Given the description of an element on the screen output the (x, y) to click on. 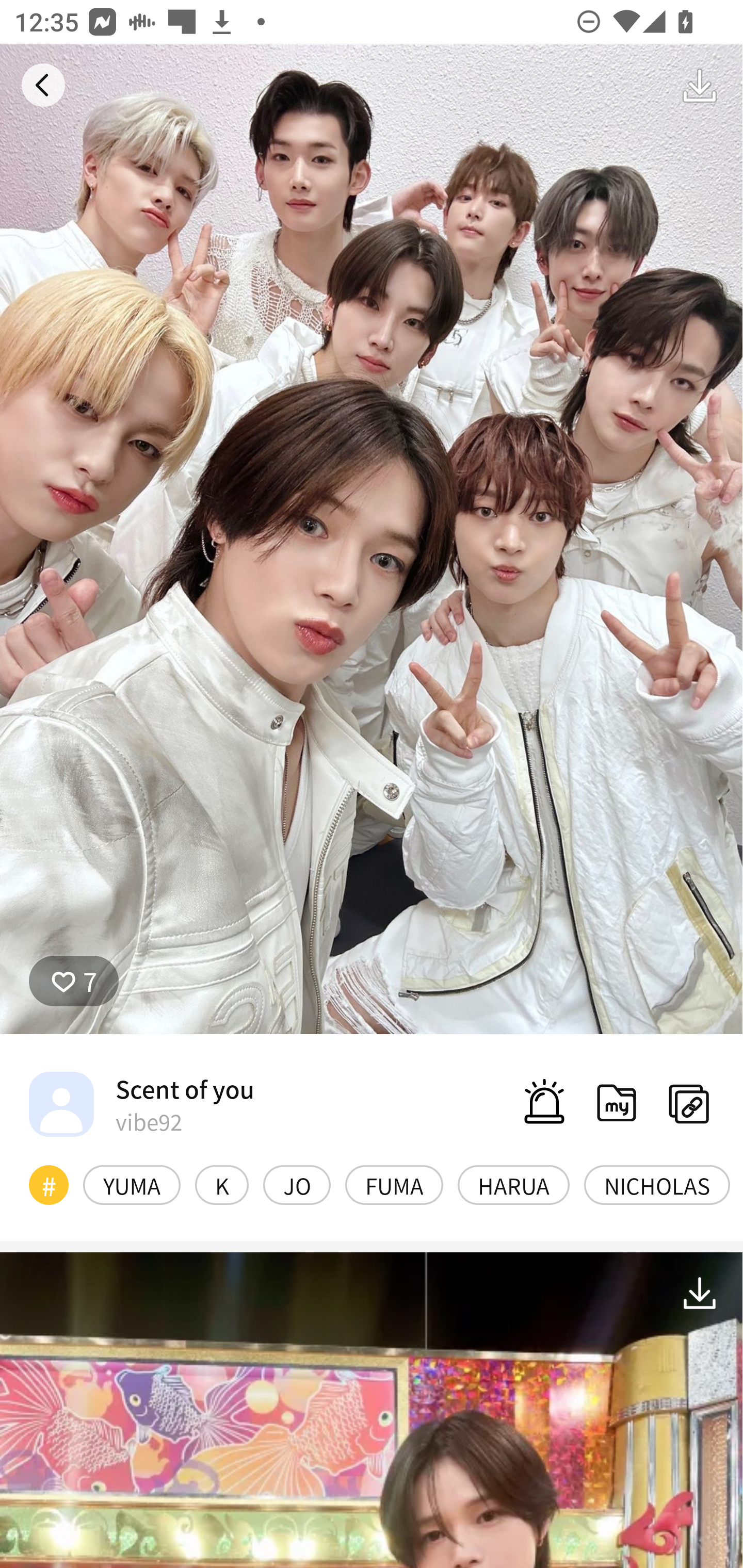
7 (73, 980)
Scent of you vibe92 (141, 1103)
YUMA (131, 1184)
K (221, 1184)
JO (296, 1184)
FUMA (394, 1184)
HARUA (513, 1184)
NICHOLAS (656, 1184)
